Given the description of an element on the screen output the (x, y) to click on. 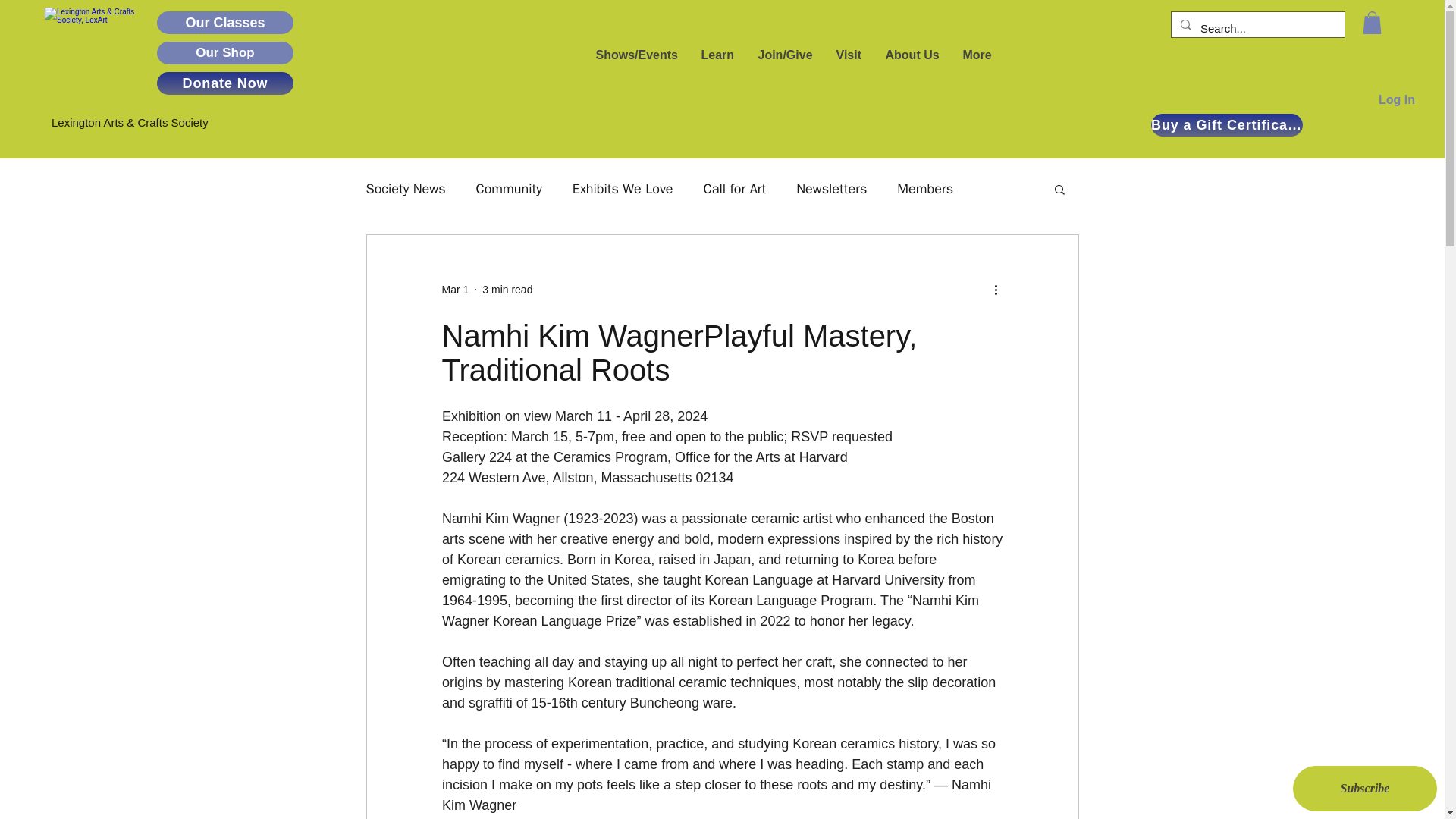
Donate Now (225, 83)
Visit (848, 54)
Buy a Gift Certificate! (1227, 124)
3 min read (506, 289)
Our Classes (225, 22)
Our Shop (225, 52)
Learn (716, 54)
Mar 1 (454, 289)
About Us (911, 54)
Log In (1396, 99)
